Given the description of an element on the screen output the (x, y) to click on. 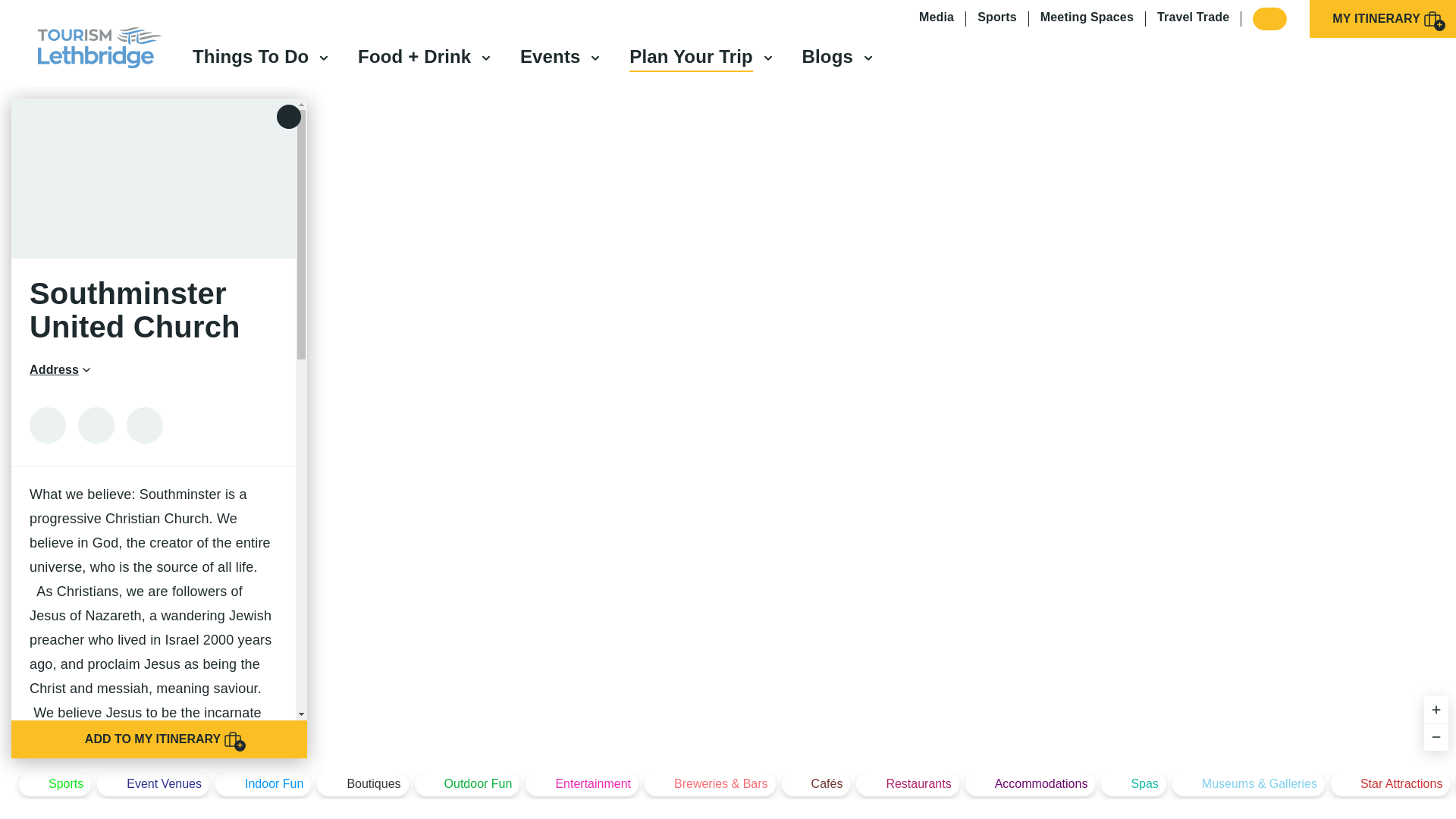
Things To Do (250, 56)
Events (549, 56)
Blogs (827, 56)
Plan Your Trip (690, 56)
